Given the description of an element on the screen output the (x, y) to click on. 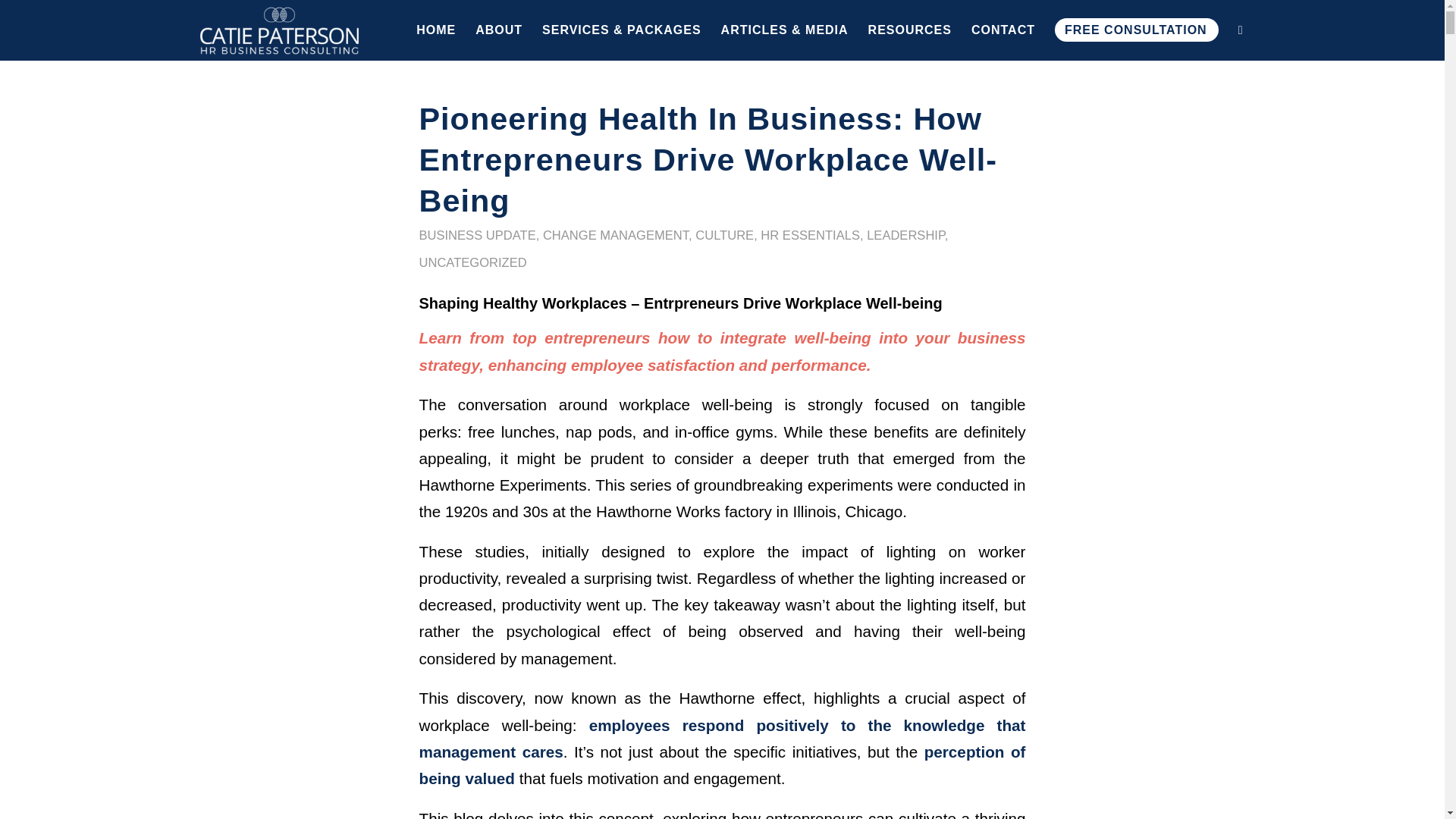
CHANGE MANAGEMENT (615, 235)
ABOUT (498, 30)
HOME (435, 30)
RESOURCES (909, 30)
CONTACT (1002, 30)
HR ESSENTIALS (810, 235)
FREE CONSULTATION (1136, 30)
LEADERSHIP (905, 235)
CULTURE (724, 235)
UNCATEGORIZED (472, 262)
BUSINESS UPDATE (477, 235)
